Given the description of an element on the screen output the (x, y) to click on. 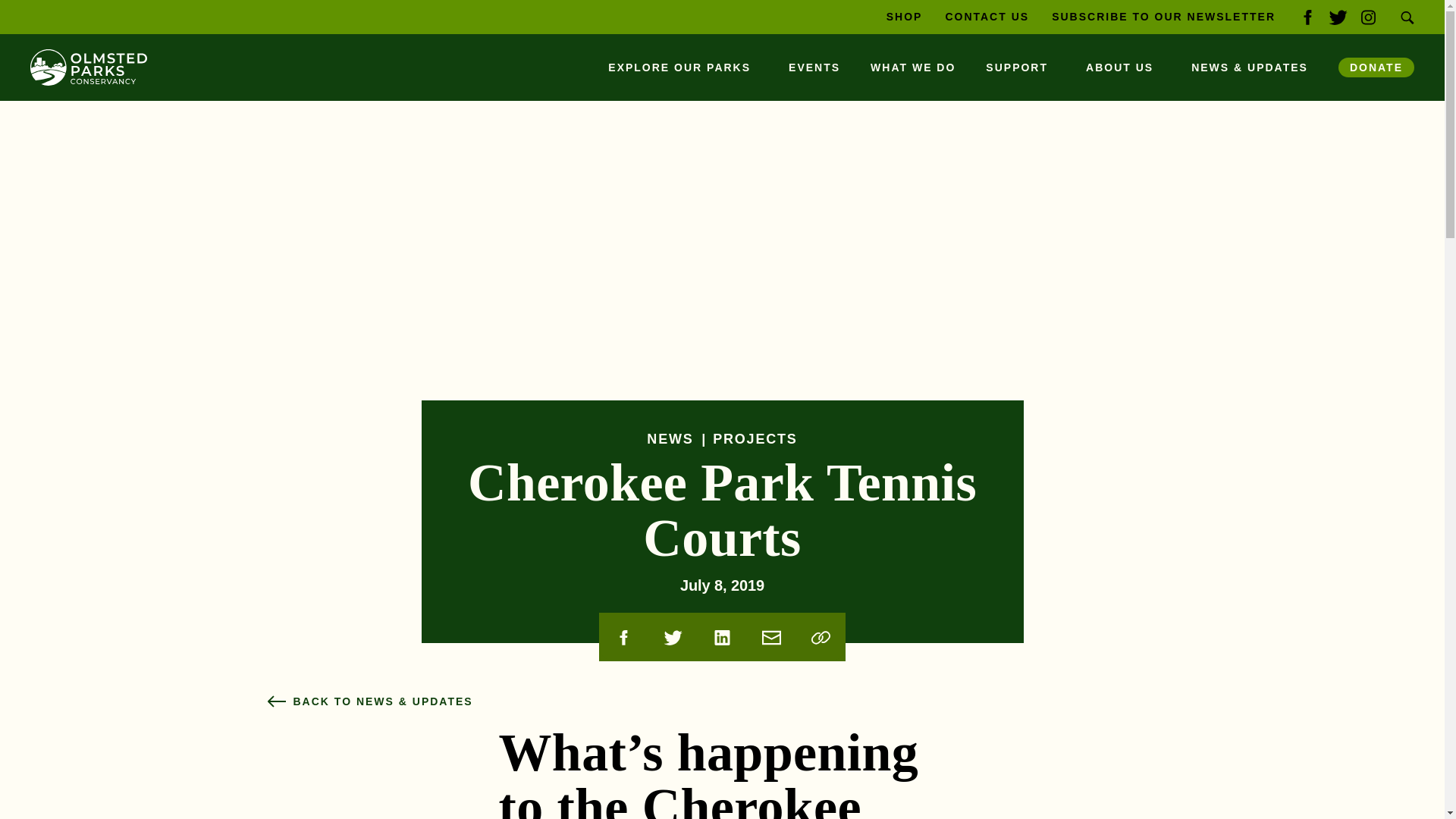
EXPLORE OUR PARKS (682, 67)
WHAT WE DO (913, 67)
SUPPORT (1020, 67)
SHOP (904, 16)
CONTACT US (986, 16)
SUBSCRIBE TO OUR NEWSLETTER (1163, 16)
EVENTS (814, 67)
